Given the description of an element on the screen output the (x, y) to click on. 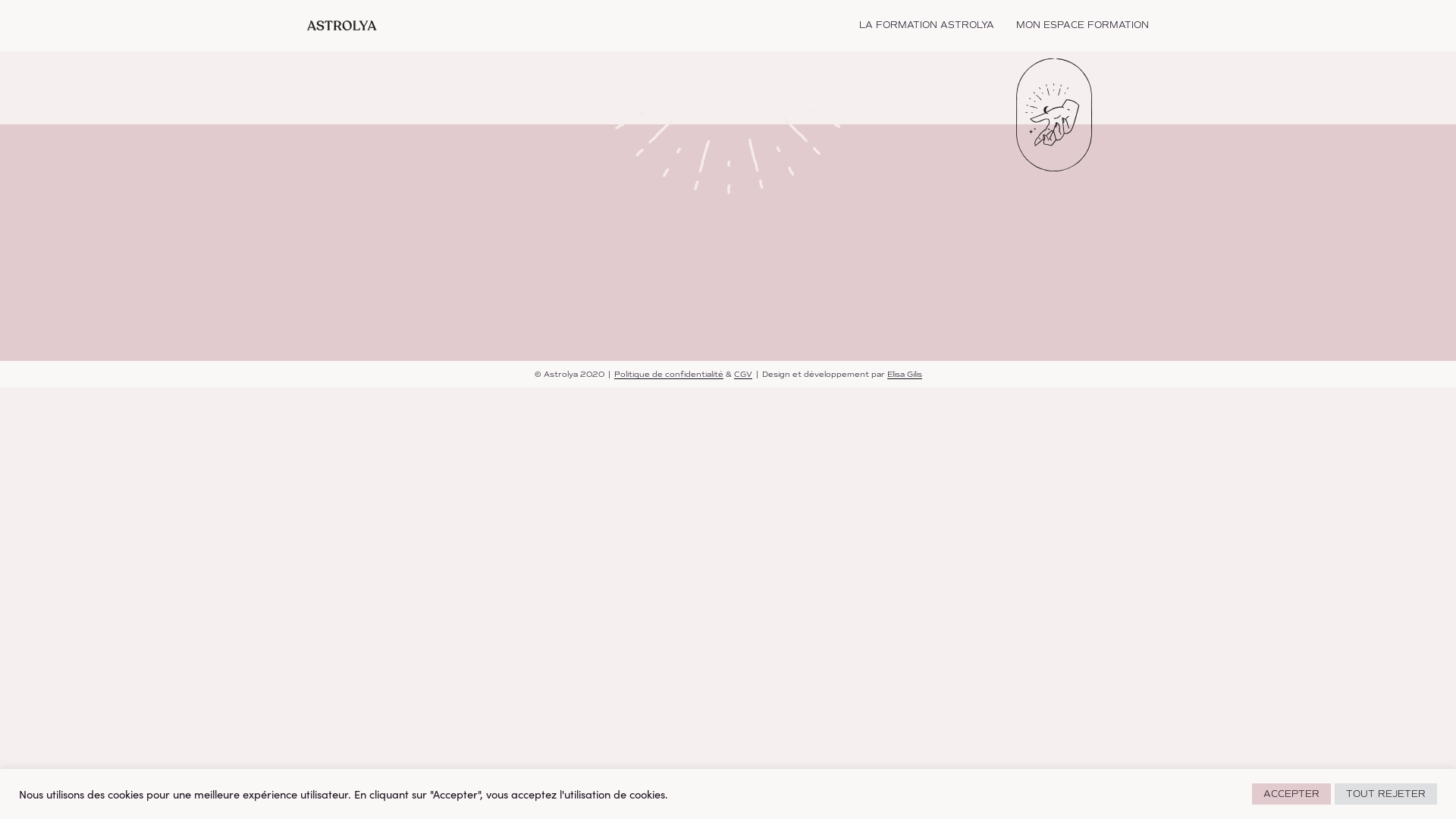
TOUT REJETER Element type: text (1385, 793)
MON ESPACE FORMATION Element type: text (1082, 25)
CGV Element type: text (743, 374)
Rechercher Element type: text (891, 409)
LA FORMATION ASTROLYA Element type: text (926, 25)
ACCEPTER Element type: text (1291, 793)
Elisa Gilis Element type: text (904, 374)
